Given the description of an element on the screen output the (x, y) to click on. 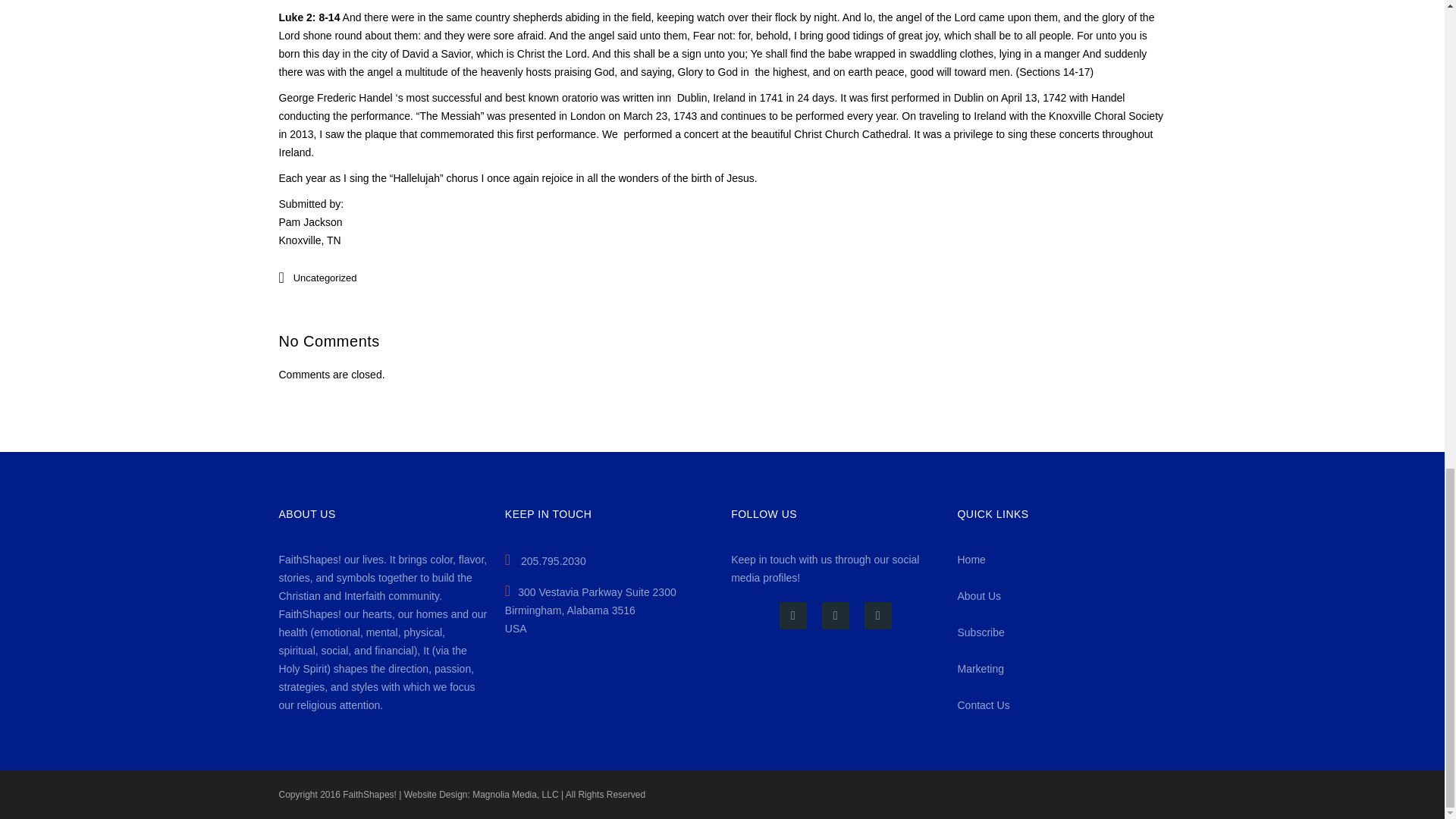
Facebook (792, 615)
Home (970, 559)
LinkedIn (877, 615)
Uncategorized (325, 277)
About Us (978, 595)
Subscribe (980, 632)
Twitter (835, 615)
